Given the description of an element on the screen output the (x, y) to click on. 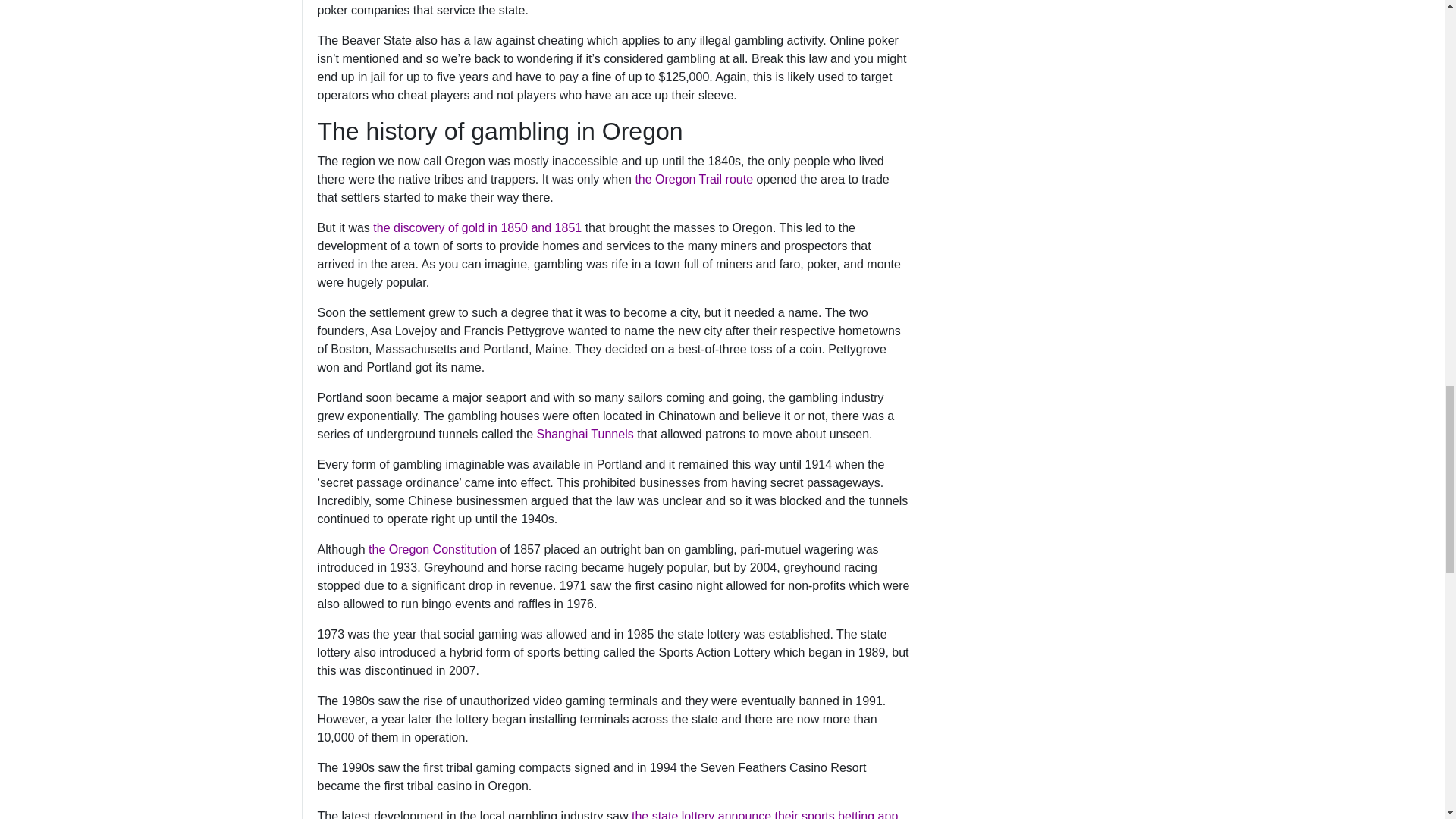
the Oregon Constitution (432, 549)
the Oregon Trail route (693, 178)
the discovery of gold in 1850 and 1851 (476, 227)
the state lottery announce their sports betting app (764, 814)
Shanghai Tunnels (585, 433)
